Given the description of an element on the screen output the (x, y) to click on. 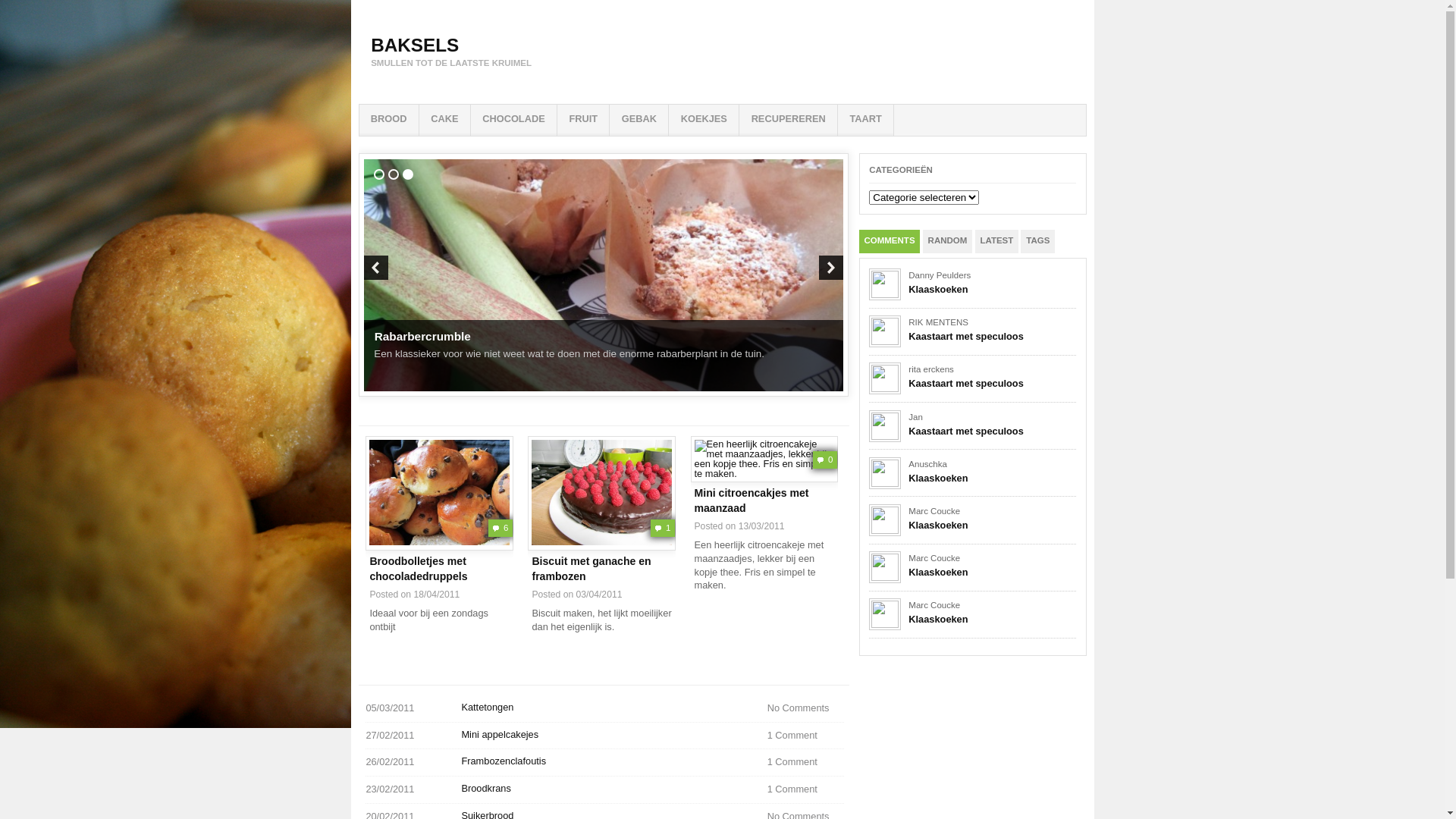
Kaastaart met speculoos Element type: text (965, 383)
Klaaskoeken Element type: text (937, 571)
1 Element type: text (601, 492)
Meergranenbrood Element type: text (423, 335)
KOEKJES Element type: text (703, 119)
Biscuit met ganache en frambozen Element type: hover (601, 492)
1 Comment Element type: text (805, 762)
RANDOM Element type: text (947, 241)
2 Element type: text (393, 174)
CHOCOLADE Element type: text (513, 119)
Broodbolletjes met chocoladedruppels Element type: text (439, 568)
Klaaskoeken Element type: text (937, 477)
Rabarbercrumble Element type: hover (1082, 275)
Frambozenclafoutis Element type: text (503, 760)
6 Element type: text (439, 492)
COMMENTS Element type: text (888, 241)
Kattetongen Element type: text (487, 706)
Broodbolletjes met chocoladedruppels Element type: hover (439, 492)
Klaaskoeken Element type: text (937, 618)
1 Comment Element type: text (805, 735)
BROOD Element type: text (388, 119)
RECUPEREREN Element type: text (788, 119)
1 Element type: text (378, 174)
Mini appelcakejes Element type: text (499, 734)
Mini citroencakjes met maanzaad Element type: text (764, 500)
Kaastaart met speculoos Element type: text (965, 430)
No Comments Element type: text (805, 708)
Kaastaart met speculoos Element type: text (965, 336)
3 Element type: text (407, 174)
Mini citroencakjes met maanzaad Element type: hover (764, 458)
TAGS Element type: text (1037, 241)
Previous Element type: text (376, 267)
1 Comment Element type: text (805, 789)
TAART Element type: text (865, 119)
Klaaskoeken Element type: text (937, 288)
CAKE Element type: text (444, 119)
Broodkrans Element type: text (485, 787)
0 Element type: text (764, 458)
GEBAK Element type: text (638, 119)
Biscuit met ganache en frambozen Element type: text (601, 568)
BAKSELS Element type: text (414, 44)
Next Element type: text (831, 267)
Klaaskoeken Element type: text (937, 524)
Meergranenbrood Element type: hover (603, 275)
FRUIT Element type: text (582, 119)
LATEST Element type: text (997, 241)
